Given the description of an element on the screen output the (x, y) to click on. 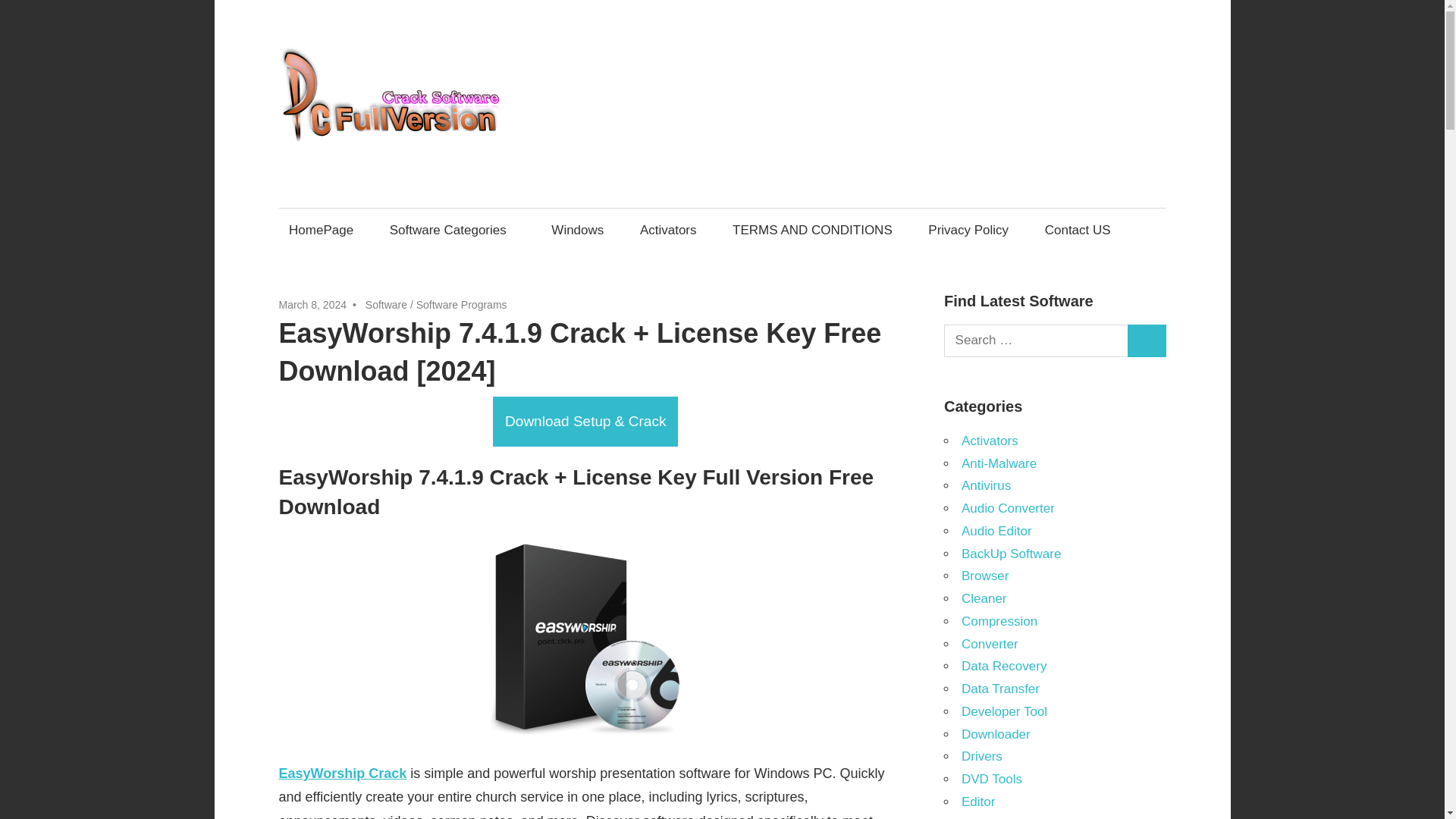
Activators (667, 230)
EasyWorship Crack (343, 773)
HomePage (321, 230)
Contact US (1077, 230)
Privacy Policy (968, 230)
March 8, 2024 (313, 304)
Windows (577, 230)
Software Programs (461, 304)
10:01 am (313, 304)
TERMS AND CONDITIONS (812, 230)
